Given the description of an element on the screen output the (x, y) to click on. 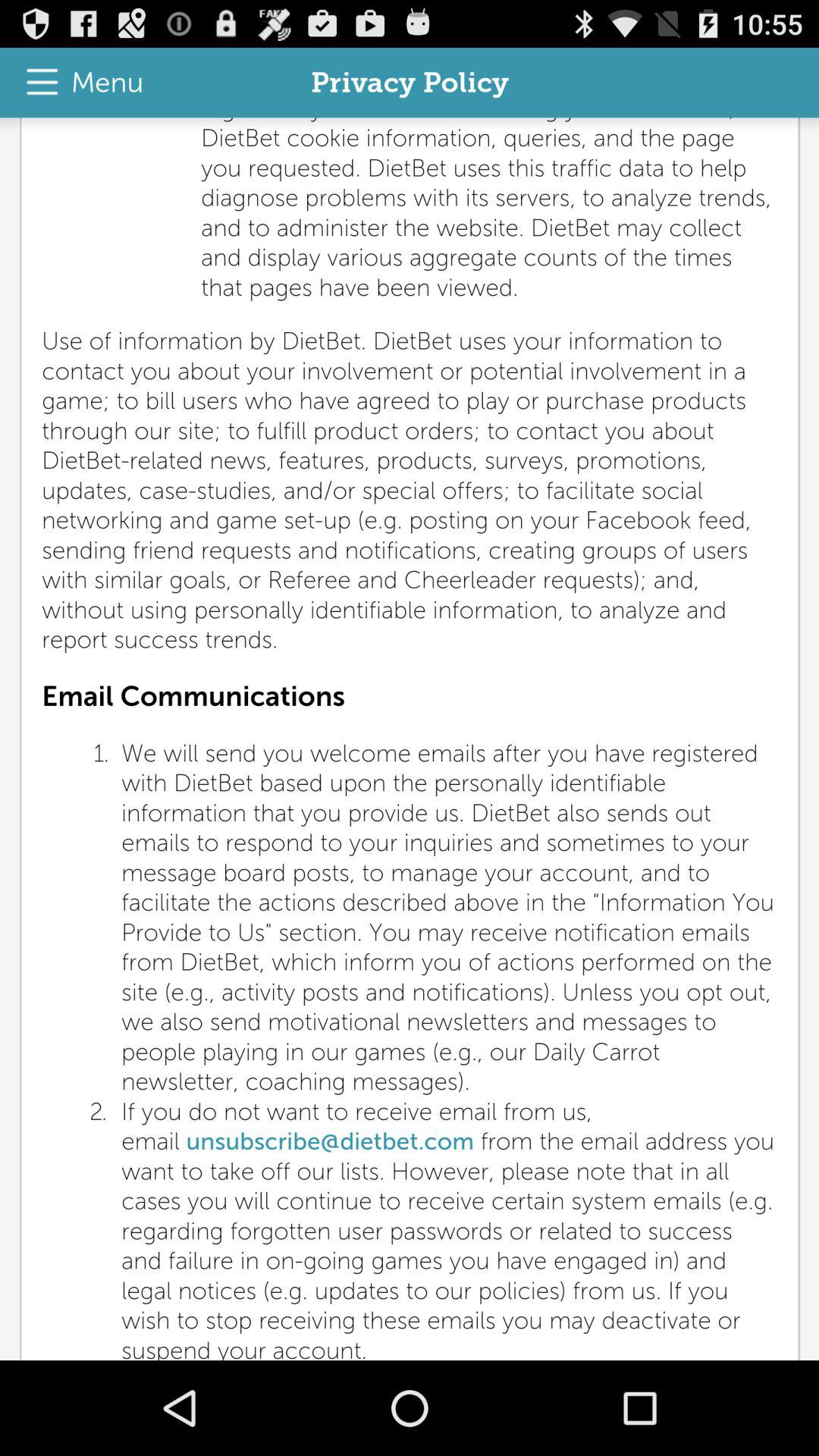
read the tos (409, 738)
